Given the description of an element on the screen output the (x, y) to click on. 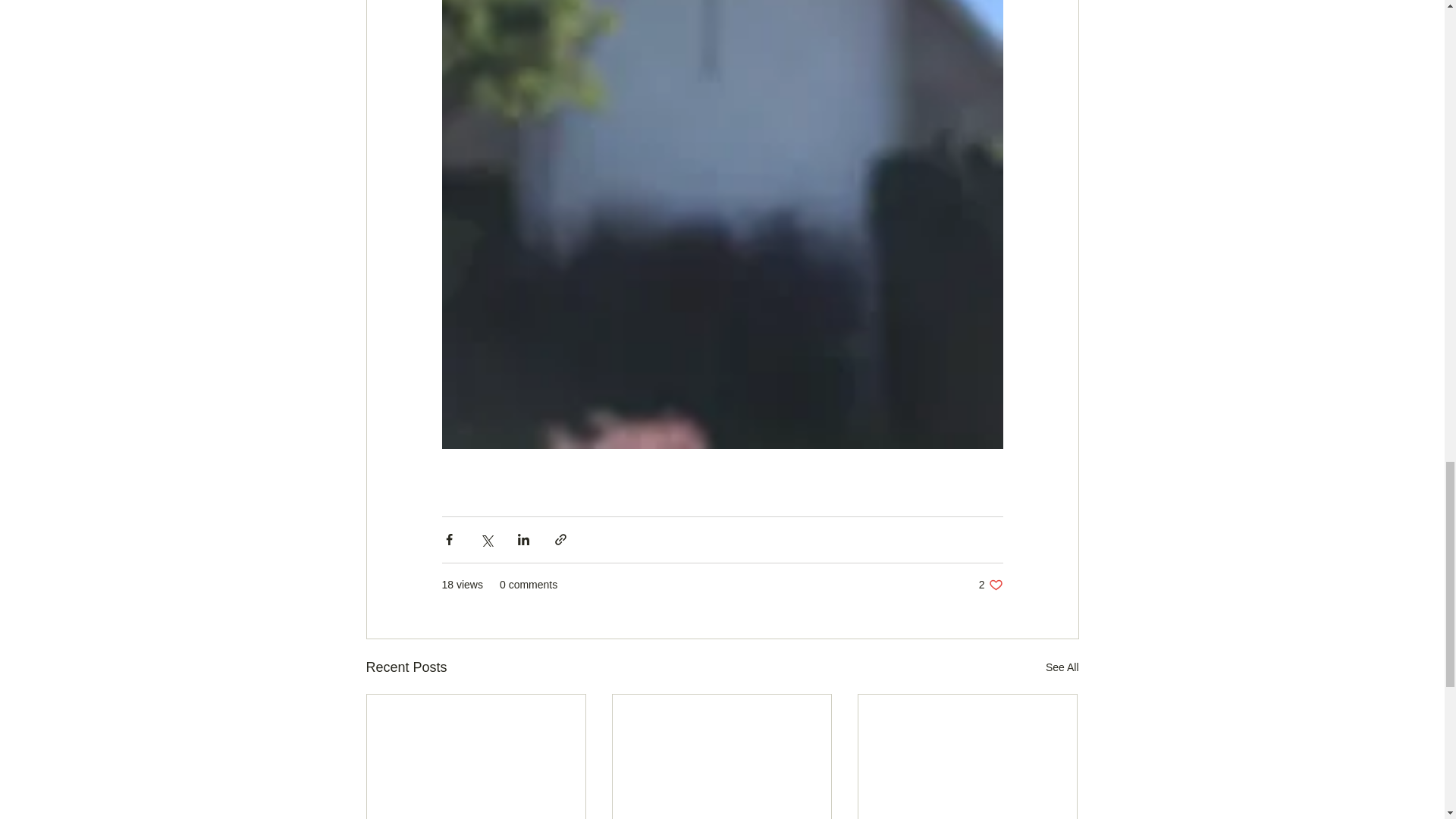
See All (990, 585)
